Given the description of an element on the screen output the (x, y) to click on. 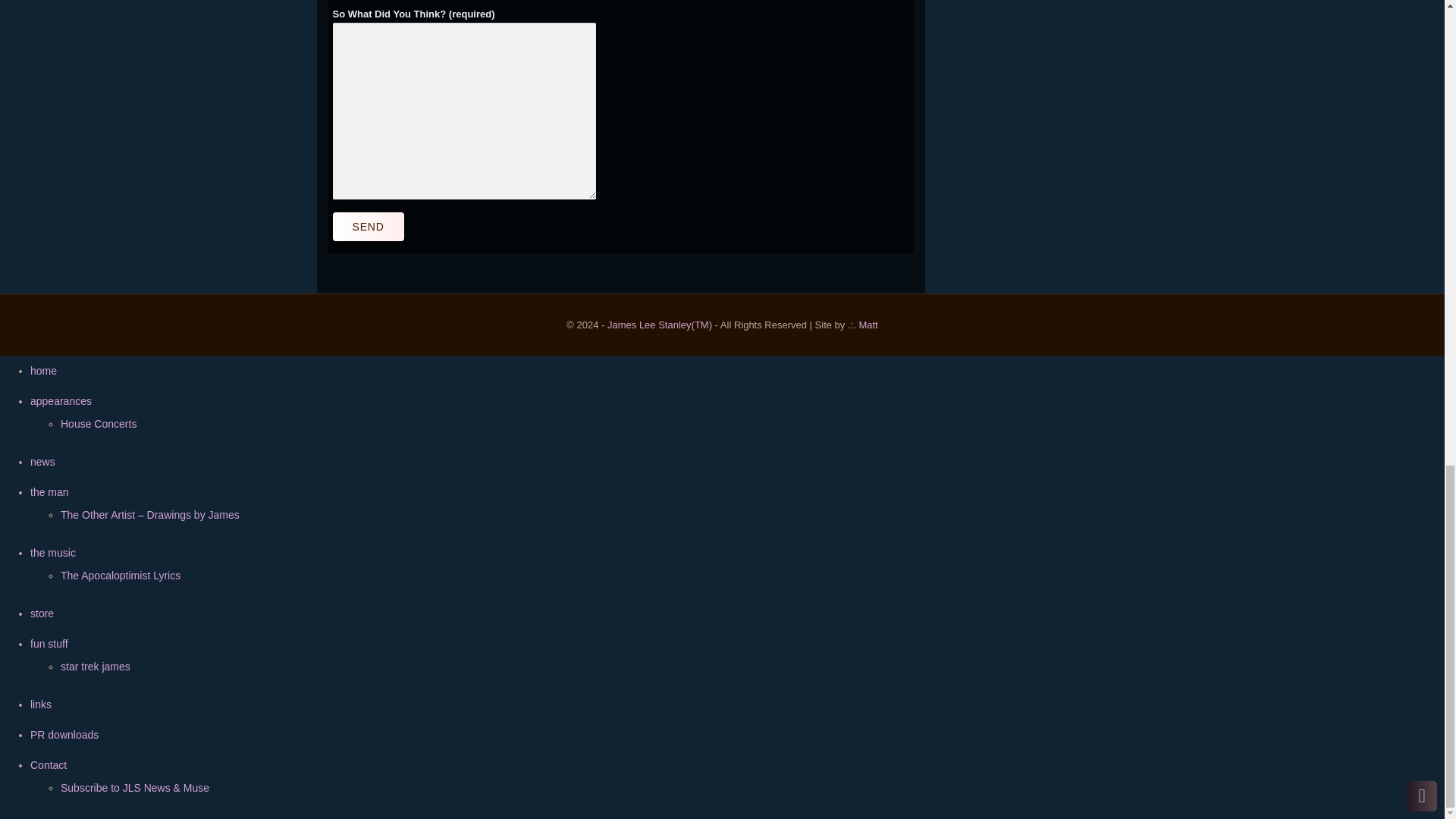
Send (367, 226)
Send (367, 226)
